Given the description of an element on the screen output the (x, y) to click on. 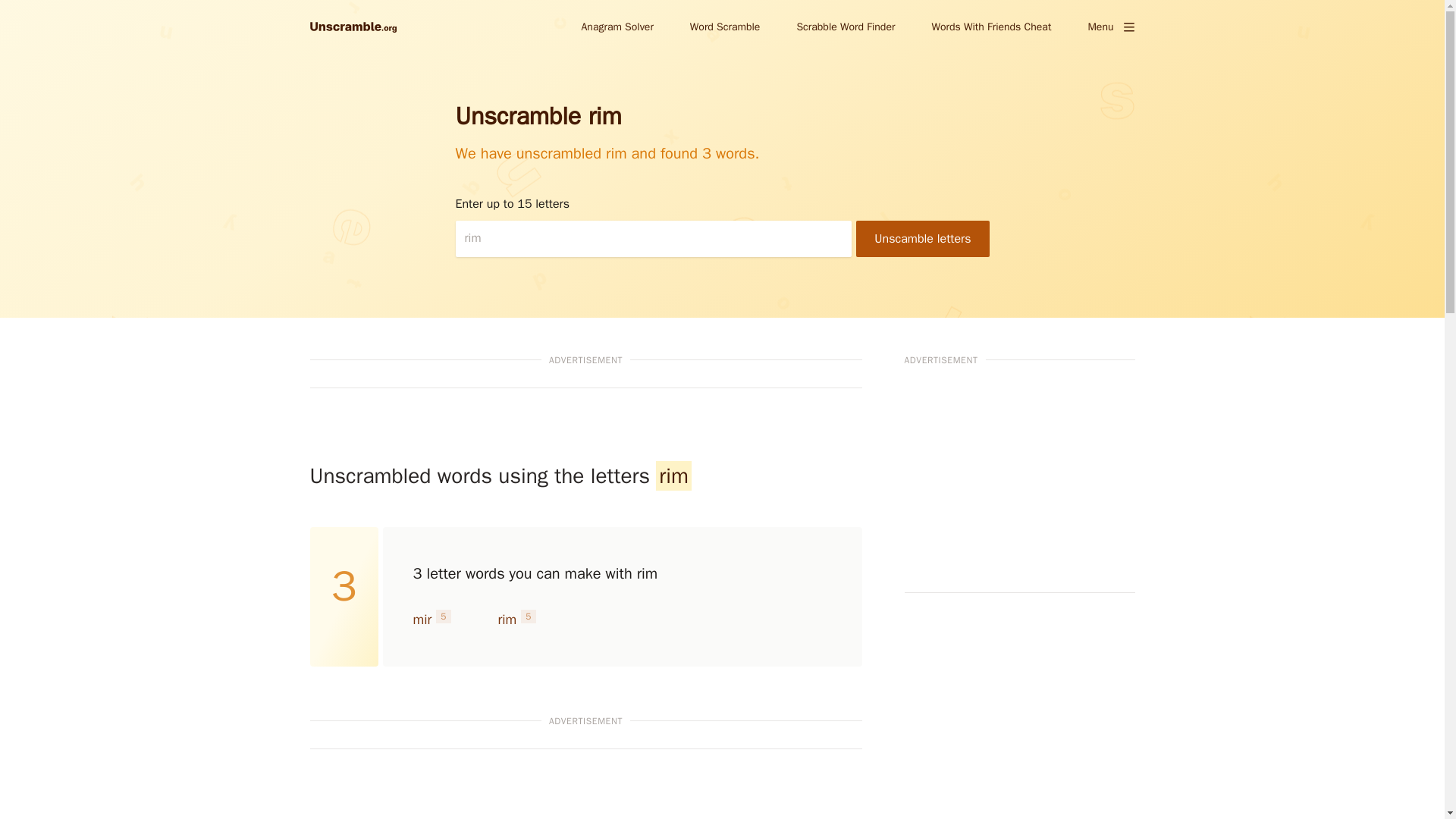
mir (421, 619)
Words With Friends Cheat (990, 26)
Scrabble Word Finder (845, 26)
rim (506, 619)
Unscamble letters (922, 238)
Unscramble.org (351, 26)
Word Scramble (725, 26)
Anagram Solver (617, 26)
Latin characters only, 2-15 letters. (652, 238)
Menu (1110, 26)
